Given the description of an element on the screen output the (x, y) to click on. 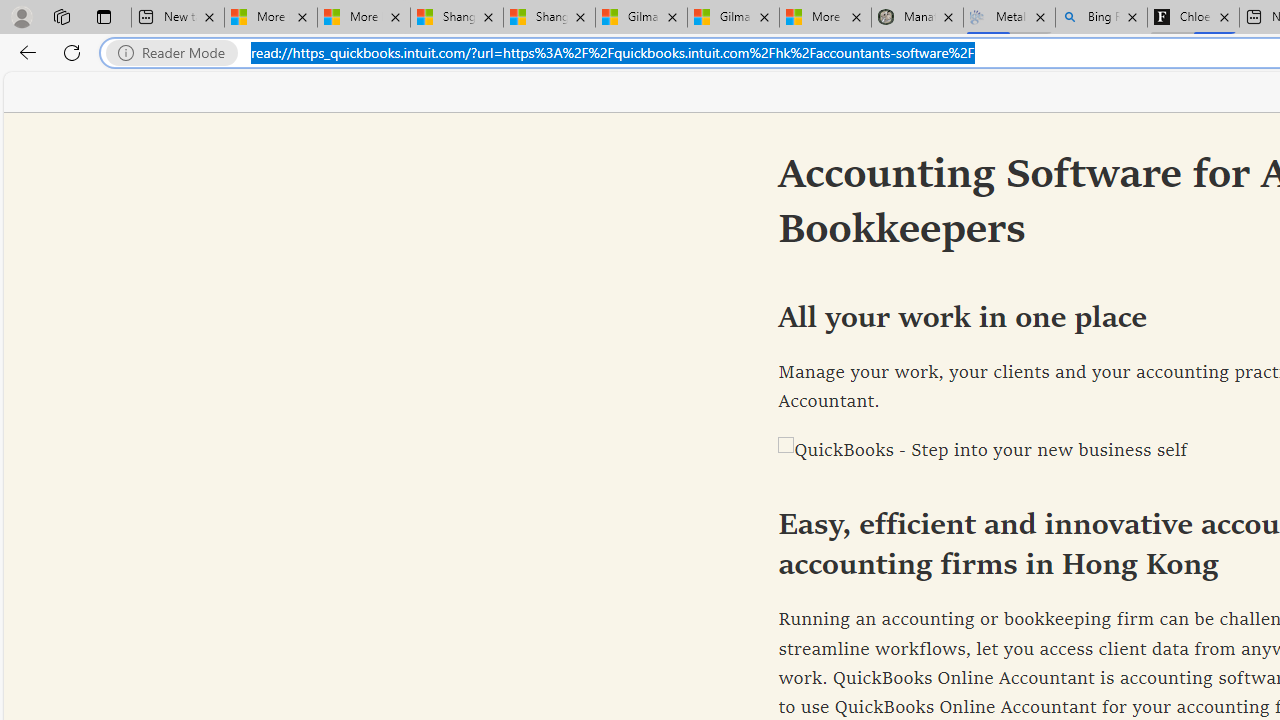
Bing Real Estate - Home sales and rental listings (1101, 17)
Reader Mode (177, 53)
Gilma and Hector both pose tropical trouble for Hawaii (733, 17)
Shanghai, China weather forecast | Microsoft Weather (549, 17)
Manatee Mortality Statistics | FWC (916, 17)
